Given the description of an element on the screen output the (x, y) to click on. 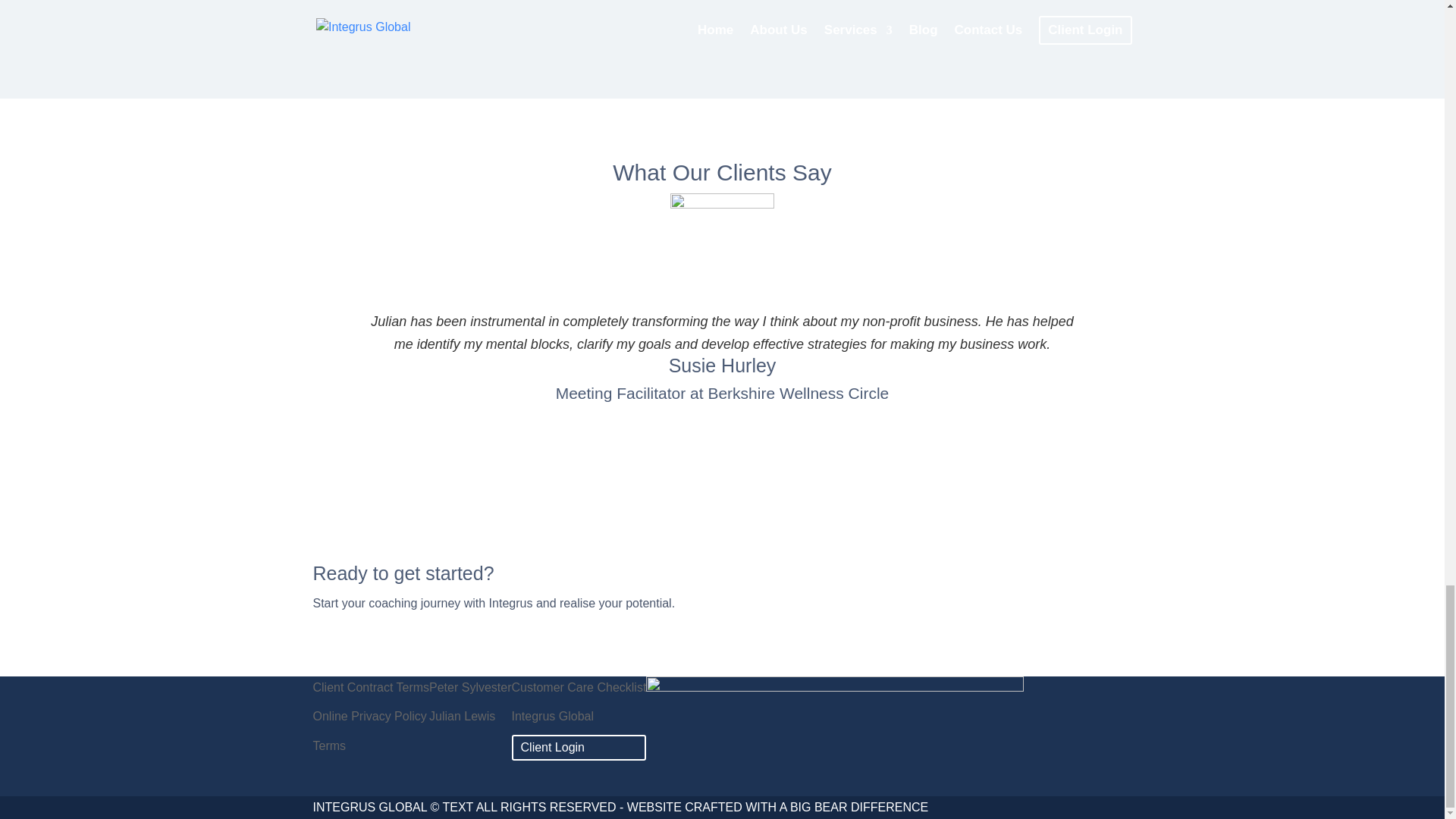
WEBSITE CRAFTED WITH A BIG BEAR DIFFERENCE (777, 807)
Client Login (552, 747)
Client Contract Terms (371, 686)
Julian Lewis (462, 716)
Integrus Global (553, 716)
Peter Sylvester (470, 686)
Online Privacy Policy (369, 716)
Start Your Journey (967, 575)
Customer Care Checklist (579, 686)
Terms (329, 745)
